Given the description of an element on the screen output the (x, y) to click on. 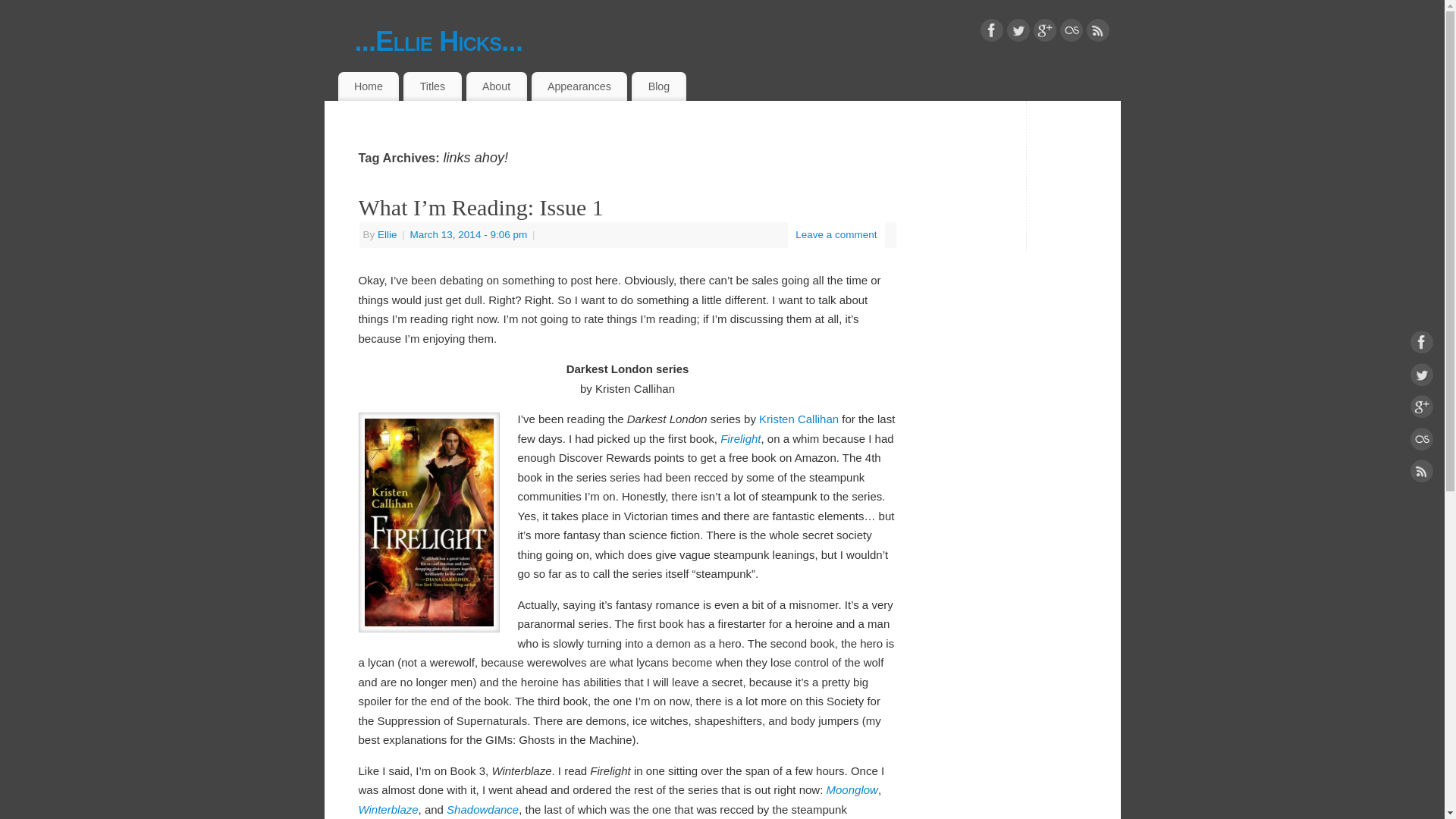
Blog (658, 86)
Moonglow (852, 789)
Titles (432, 86)
Firelight (740, 438)
View all posts by Ellie (387, 234)
Home (367, 86)
March 13, 2014 - 9:06 pm (468, 234)
Shadowdance (482, 809)
Appearances (579, 86)
About (496, 86)
